Given the description of an element on the screen output the (x, y) to click on. 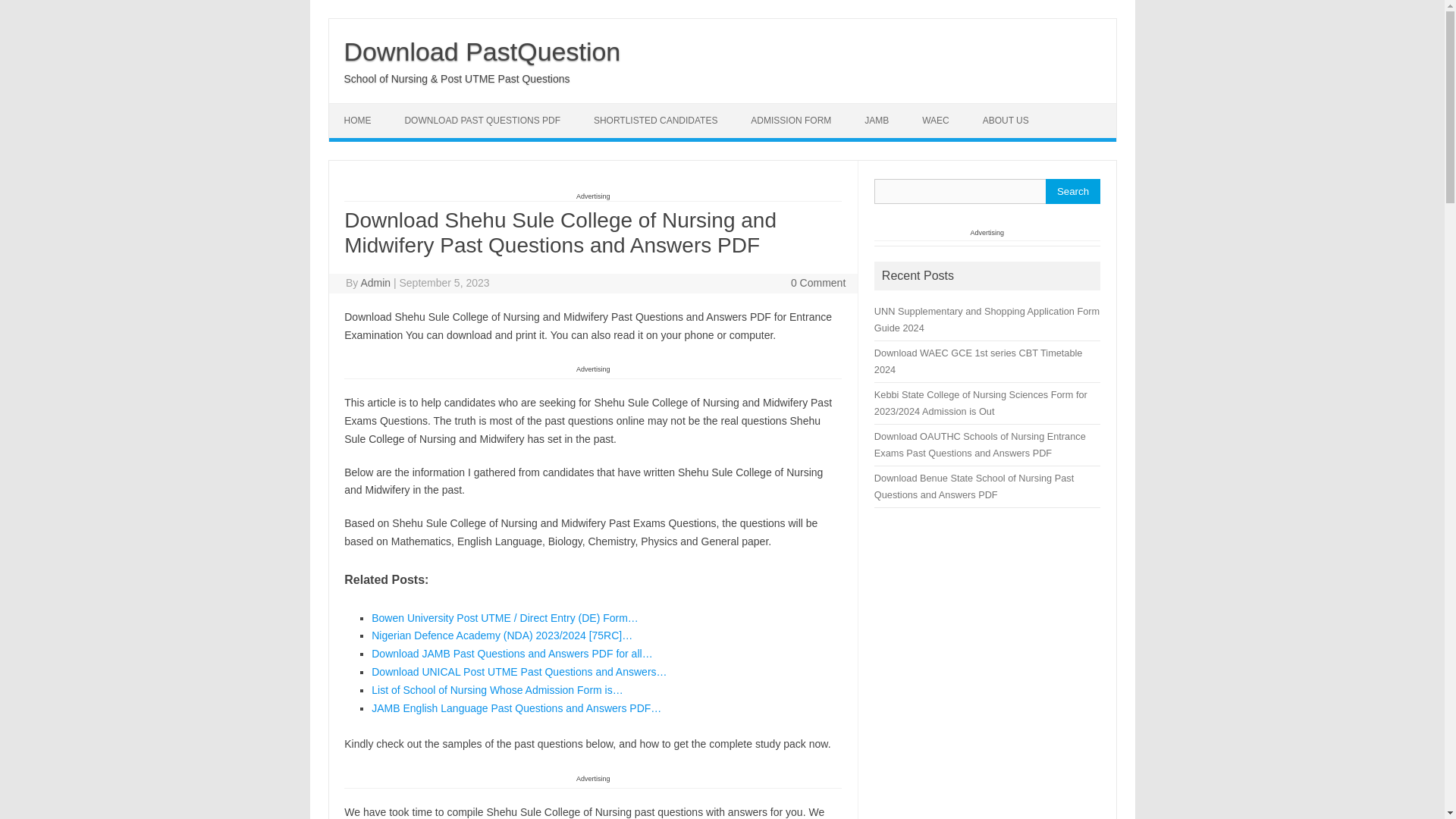
Skip to content (363, 108)
JAMB (876, 120)
UNN Supplementary and Shopping Application Form Guide 2024 (987, 319)
Search (1072, 191)
SHORTLISTED CANDIDATES (655, 120)
Download WAEC GCE 1st series CBT Timetable 2024 (979, 361)
ABOUT US (1005, 120)
DOWNLOAD PAST QUESTIONS PDF (481, 120)
Admin (374, 282)
WAEC (935, 120)
Download PastQuestion (482, 51)
Skip to content (363, 108)
HOME (358, 120)
0 Comment (817, 282)
